Given the description of an element on the screen output the (x, y) to click on. 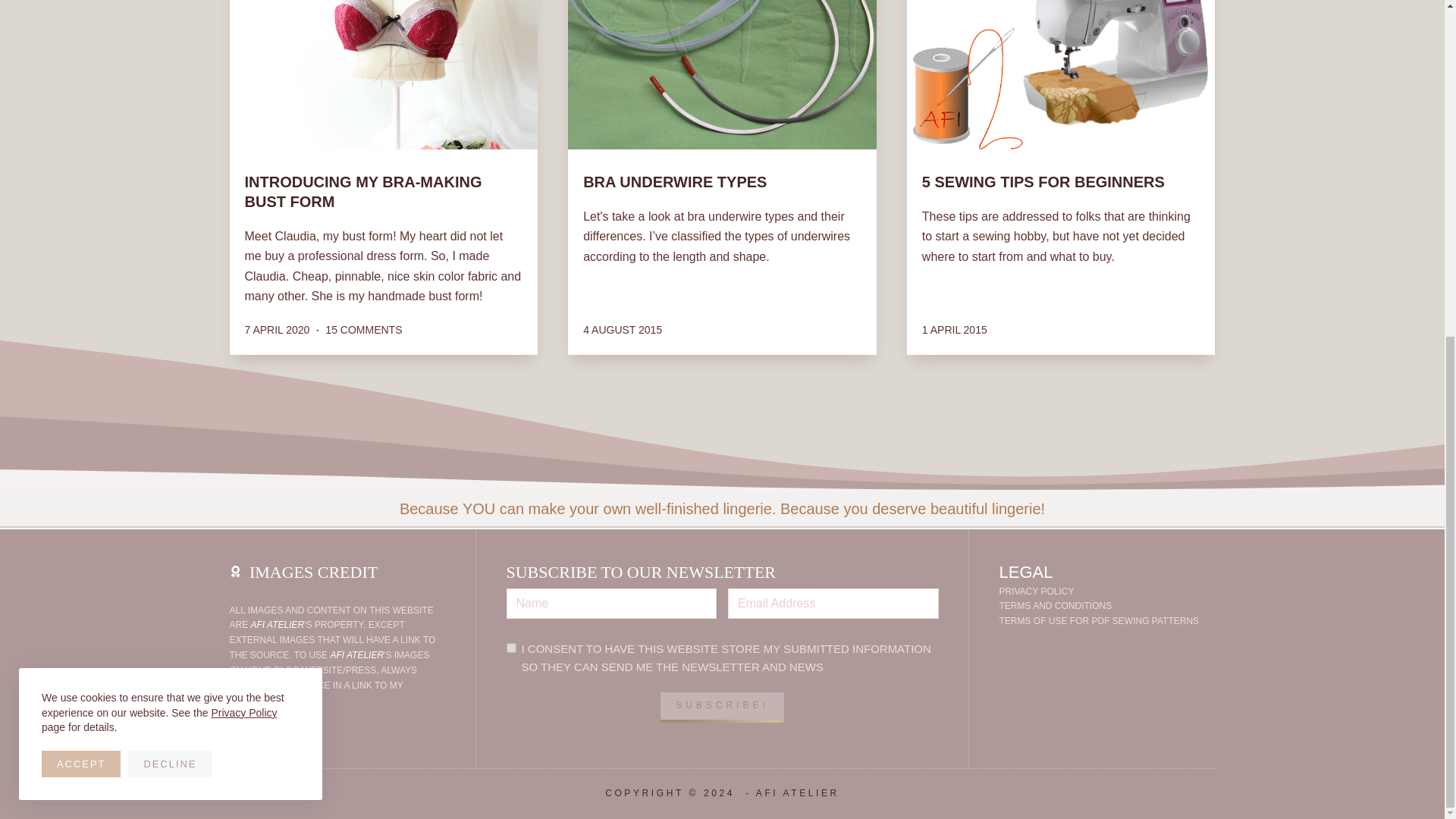
on (511, 647)
ACCEPT (81, 198)
DECLINE (169, 198)
Privacy Policy (243, 146)
